Given the description of an element on the screen output the (x, y) to click on. 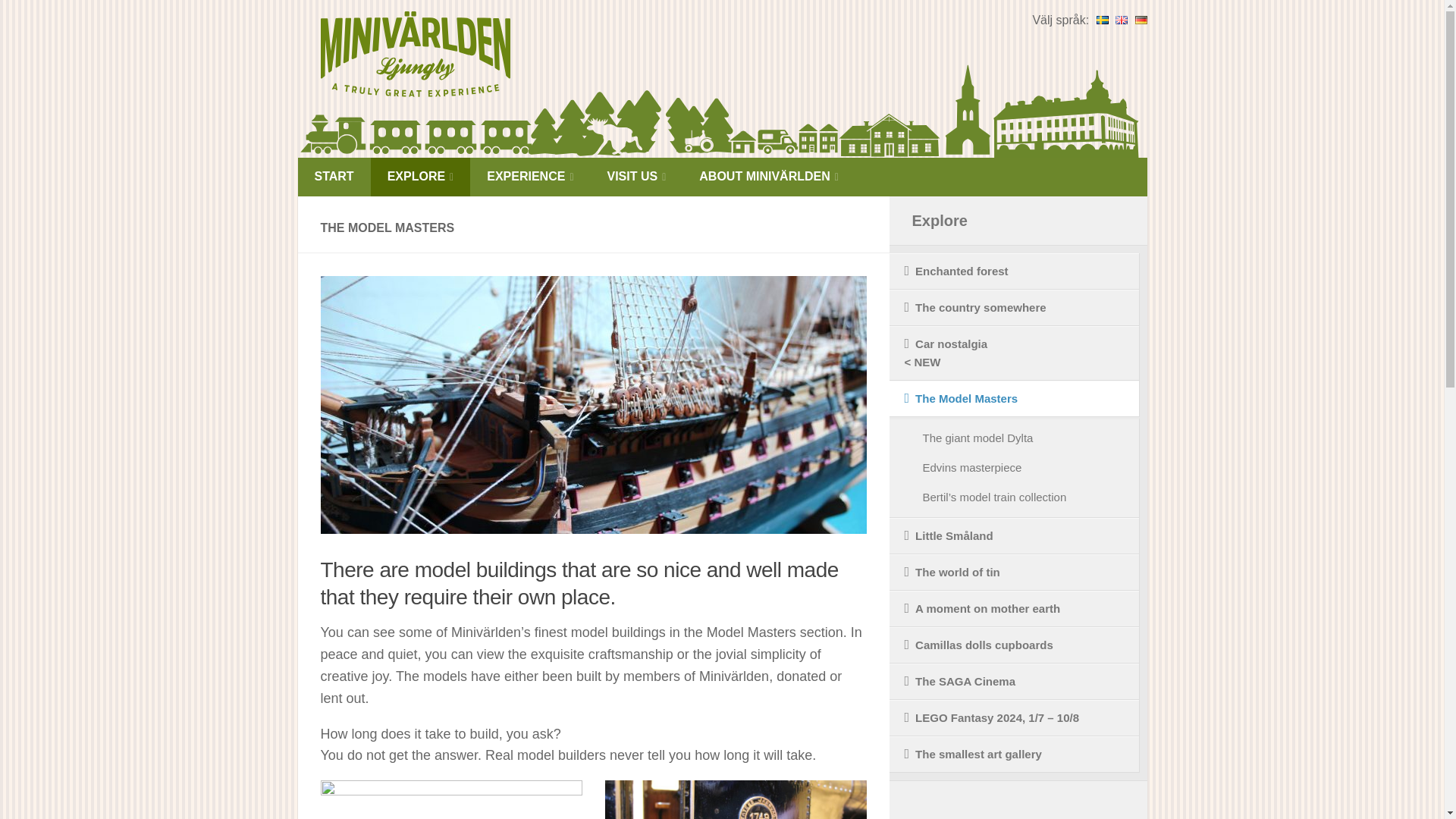
The giant model Dylta (450, 799)
VISIT US (635, 176)
EXPLORE (420, 176)
Edvins masterpiece (735, 799)
START (333, 176)
EXPERIENCE (529, 176)
